Given the description of an element on the screen output the (x, y) to click on. 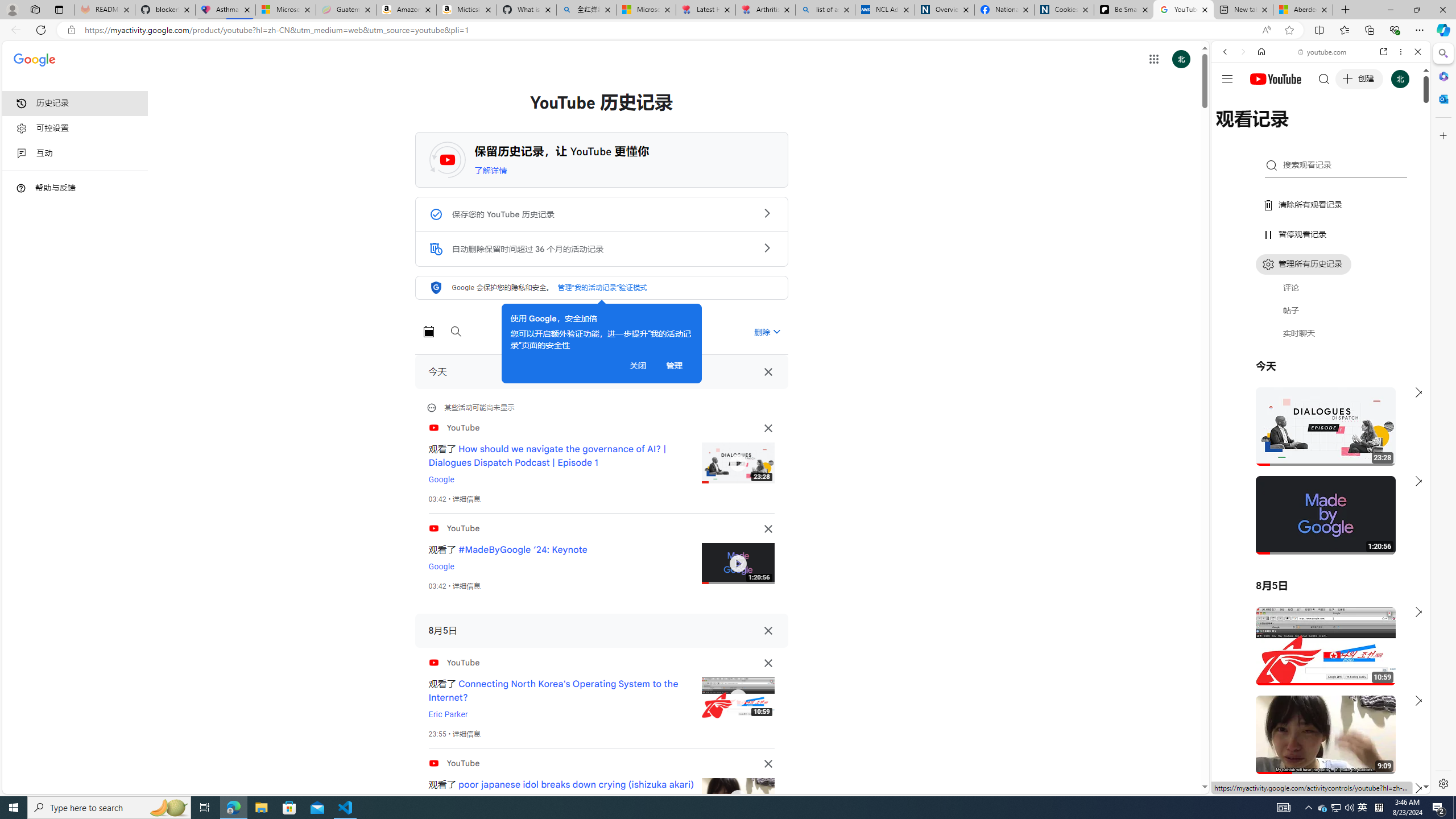
Arthritis: Ask Health Professionals (765, 9)
Google (1320, 281)
Preferences (1403, 129)
Class: asE2Ub NMm5M (776, 331)
SEARCH TOOLS (1350, 130)
